Given the description of an element on the screen output the (x, y) to click on. 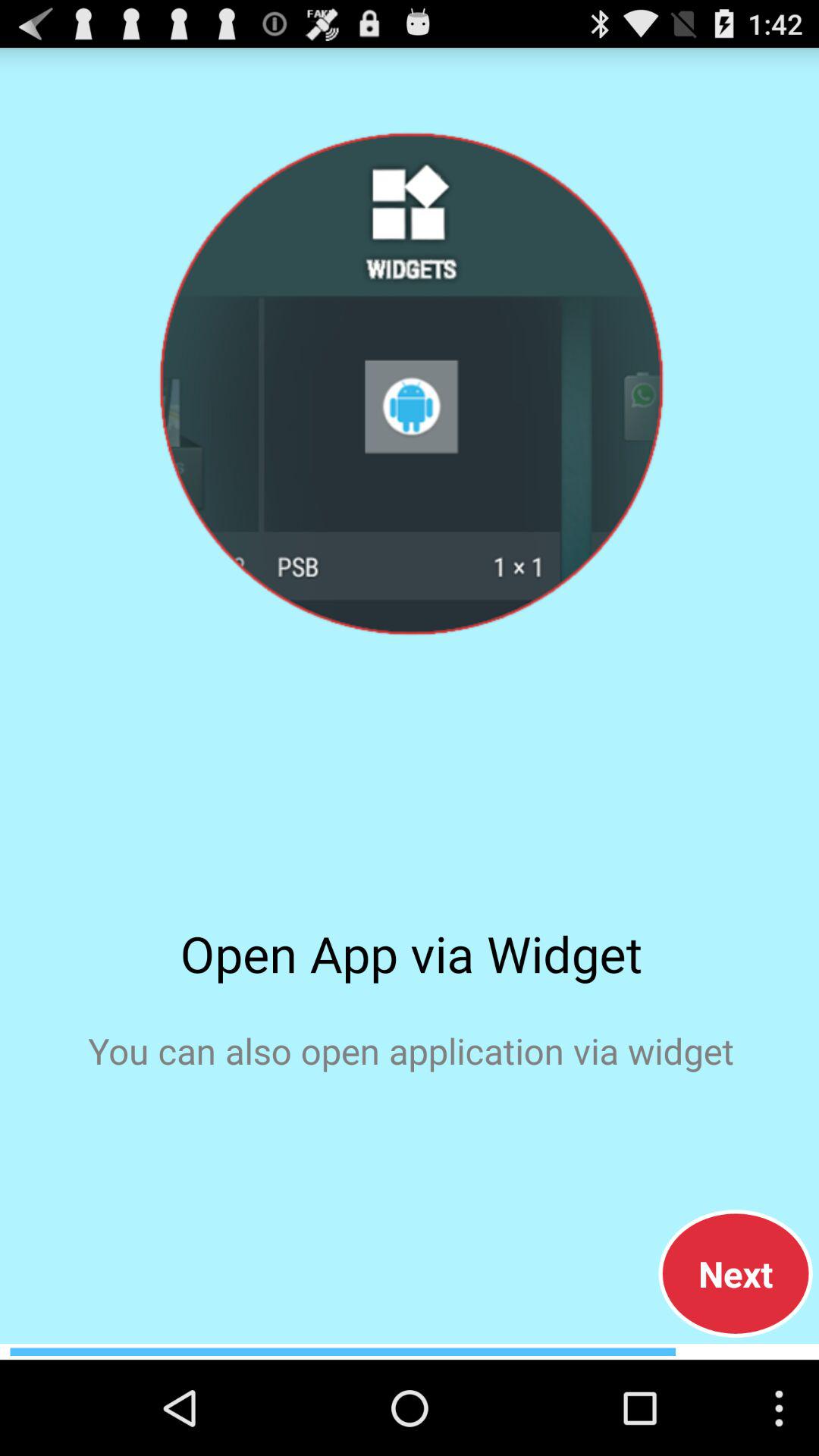
choose the item below you can also icon (735, 1273)
